Given the description of an element on the screen output the (x, y) to click on. 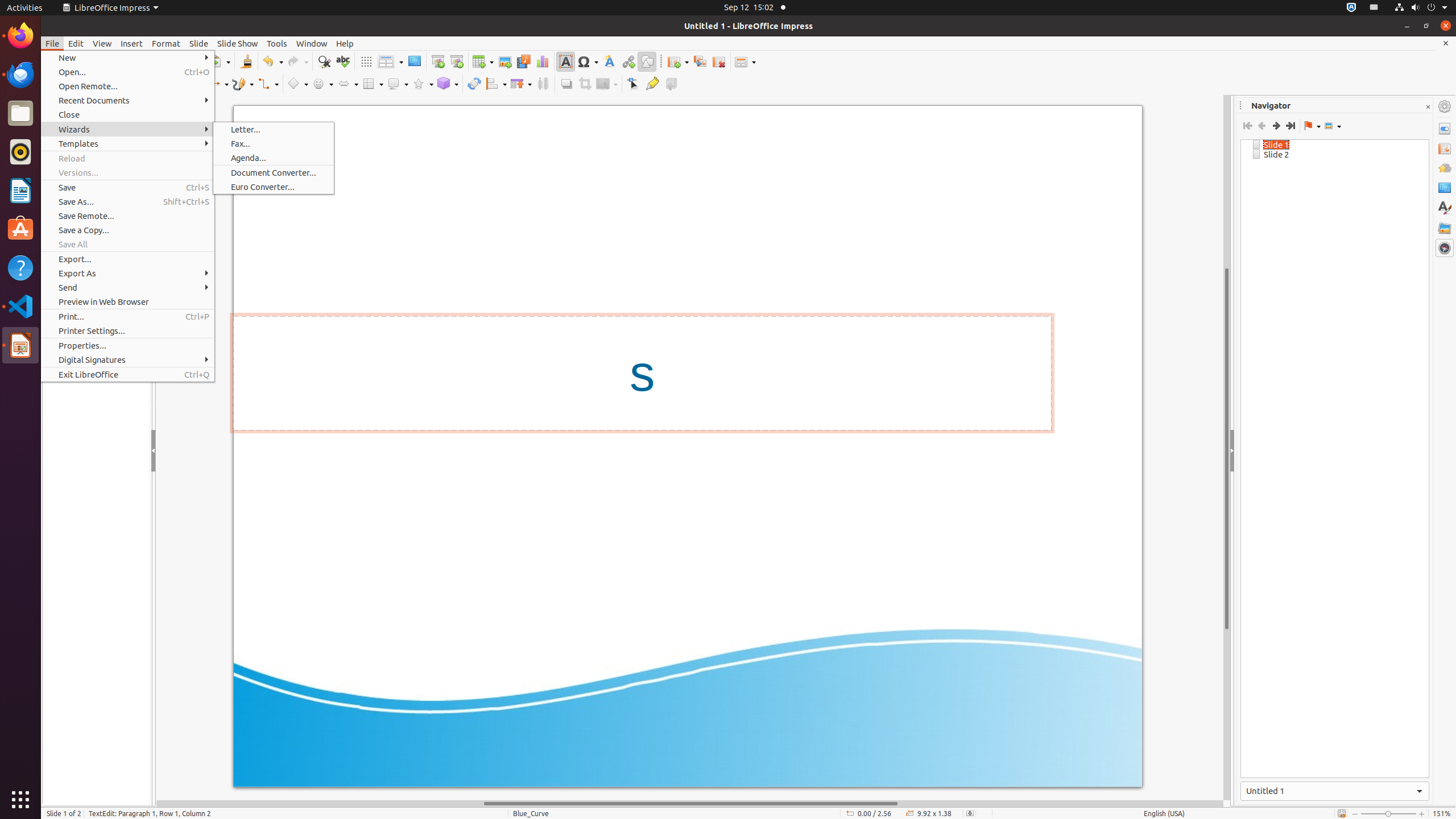
Last Slide Element type: push-button (1290, 125)
Euro Converter... Element type: menu-item (273, 186)
Versions... Element type: menu-item (127, 172)
Print... Element type: menu-item (127, 316)
Drag Mode Element type: push-button (1311, 125)
